Given the description of an element on the screen output the (x, y) to click on. 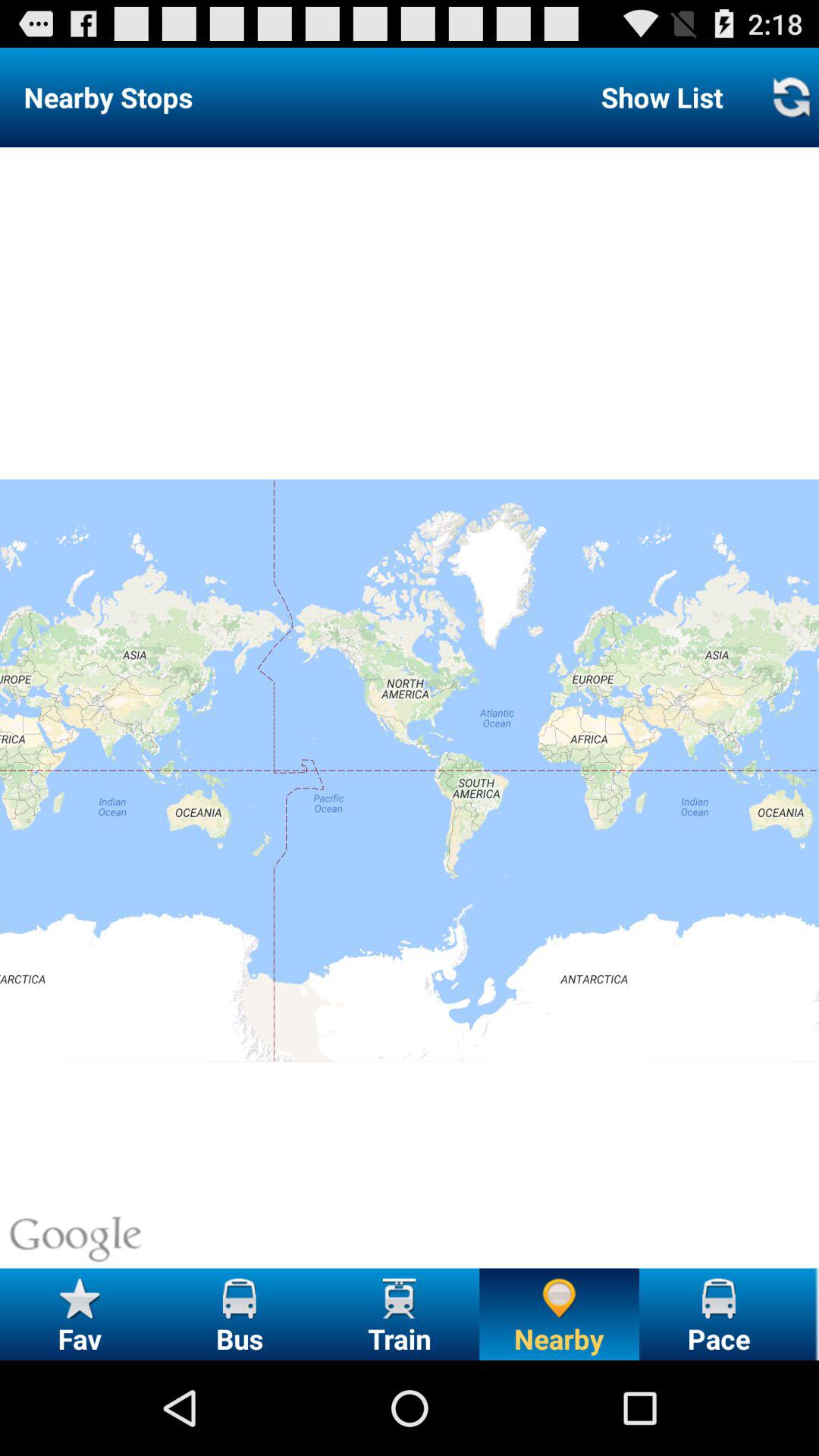
choose the item at the center (409, 707)
